Given the description of an element on the screen output the (x, y) to click on. 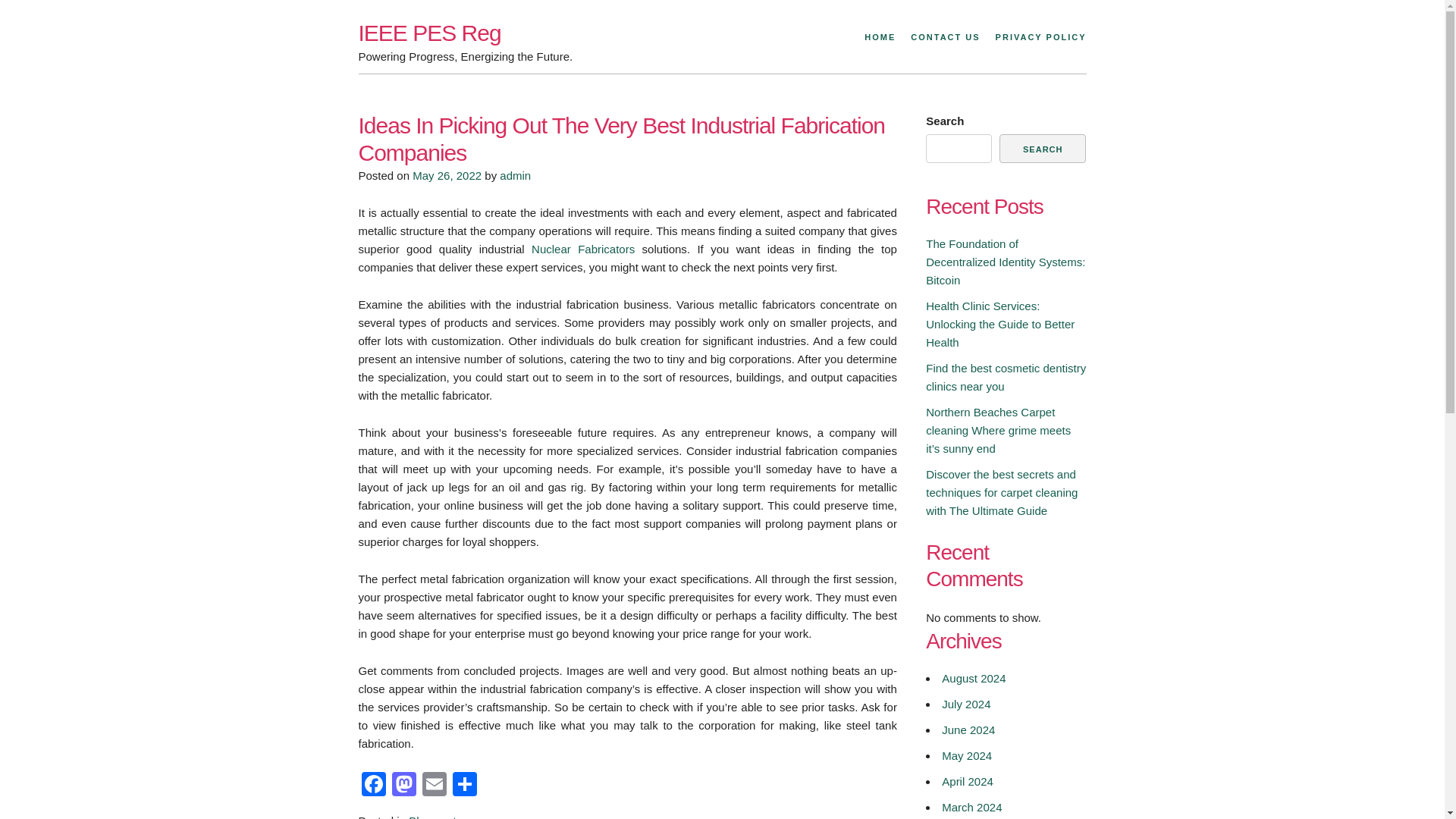
Facebook (373, 786)
Find the best cosmetic dentistry clinics near you (1006, 376)
August 2024 (974, 677)
Nuclear Fabricators (582, 248)
May 2024 (966, 755)
Mastodon (403, 786)
HOME (879, 37)
Blog post (433, 816)
CONTACT US (945, 37)
